Given the description of an element on the screen output the (x, y) to click on. 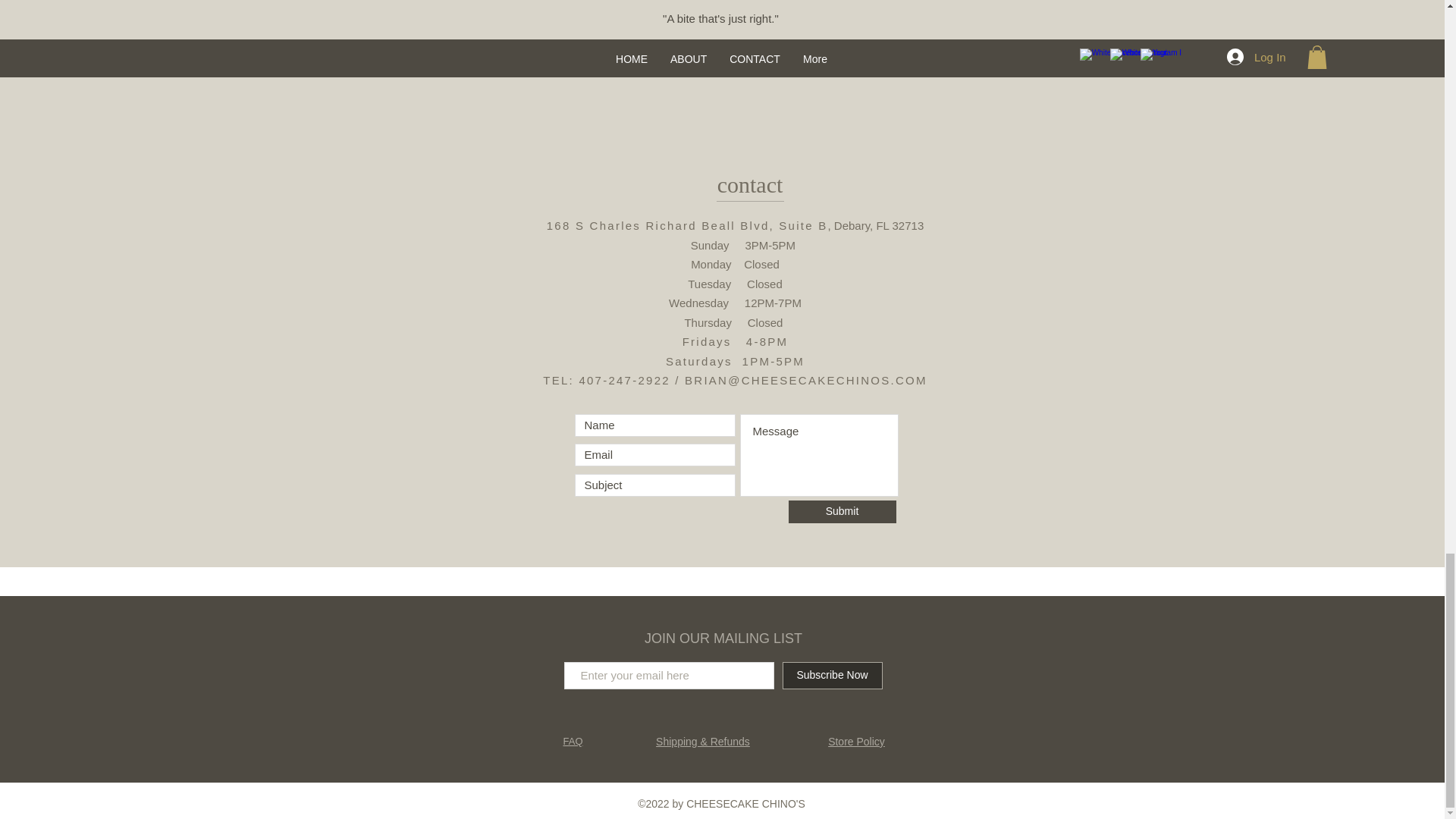
Store Policy (856, 741)
Submit (842, 511)
FAQ (572, 740)
Subscribe Now (832, 675)
